Given the description of an element on the screen output the (x, y) to click on. 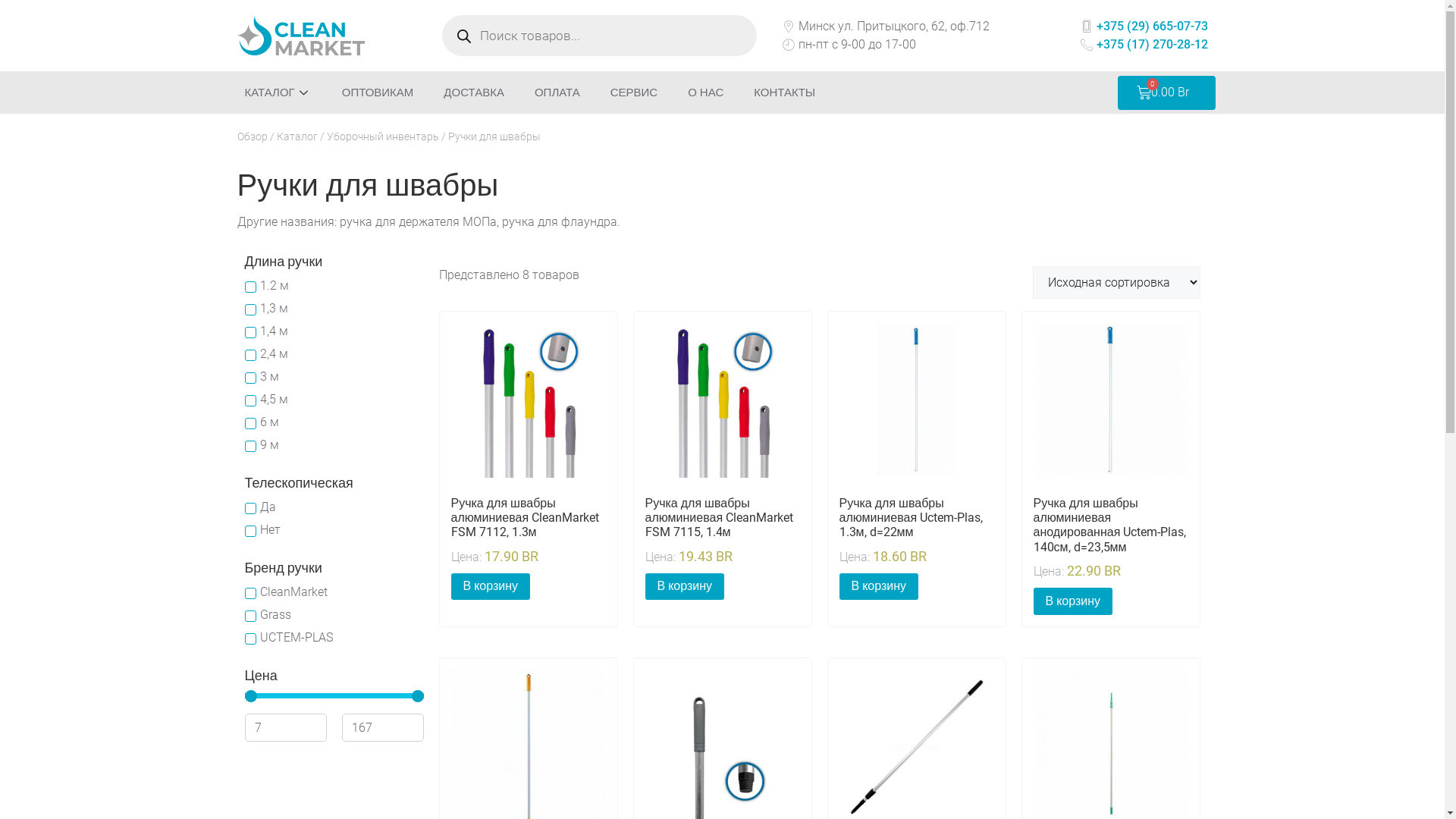
+375 (17) 270-28-12 Element type: text (1141, 44)
+375 (29) 665-07-73 Element type: text (1141, 26)
0.00 Br Element type: text (1166, 92)
